Given the description of an element on the screen output the (x, y) to click on. 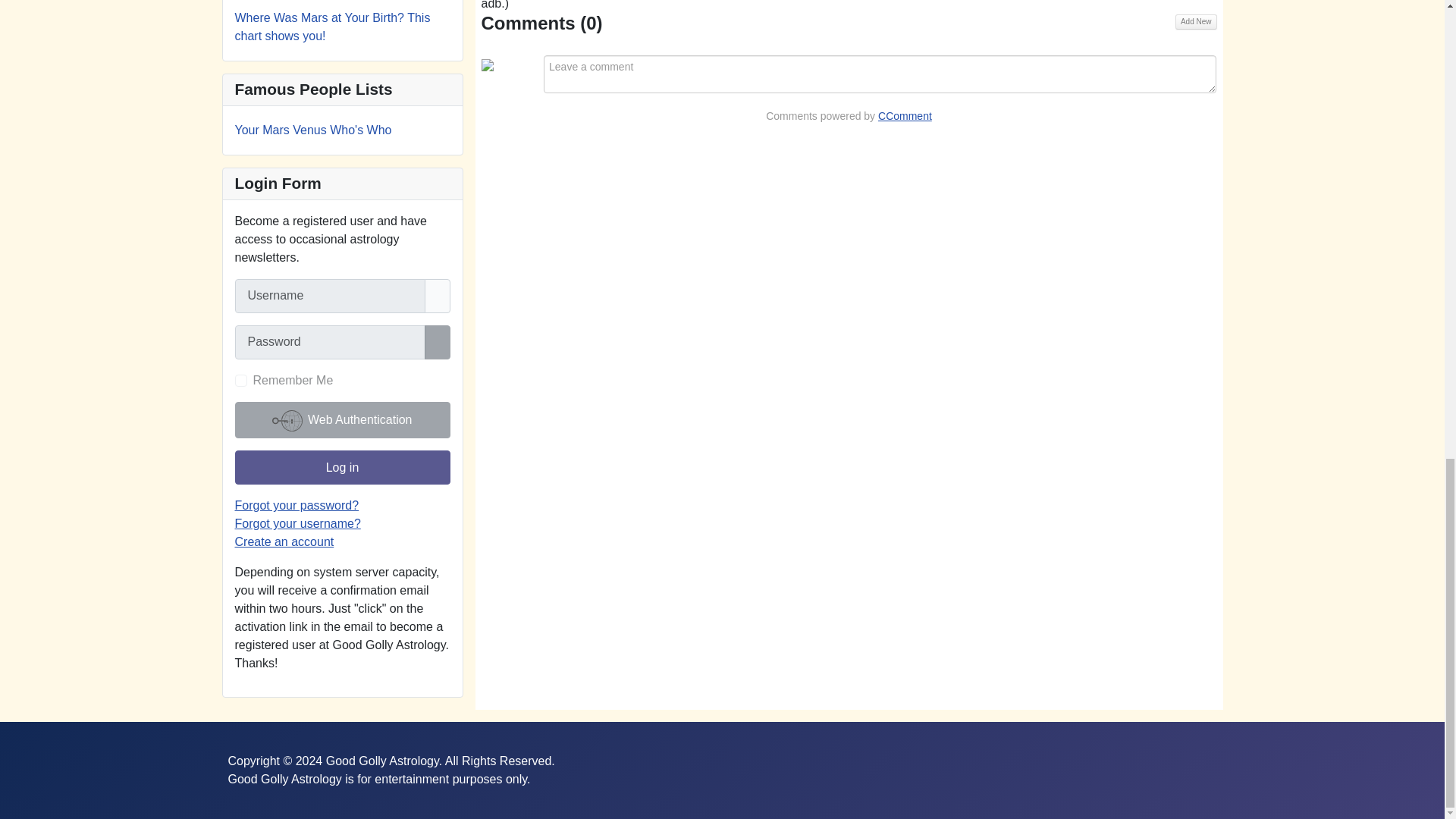
Log in (341, 467)
Forgot your username? (297, 522)
Forgot your password? (296, 504)
Web Authentication (341, 420)
Where Was Mars at Your Birth? This chart shows you! (332, 26)
Add New (1195, 21)
Your Mars Venus Who's Who (312, 129)
yes (240, 380)
Web Authentication (341, 420)
